Given the description of an element on the screen output the (x, y) to click on. 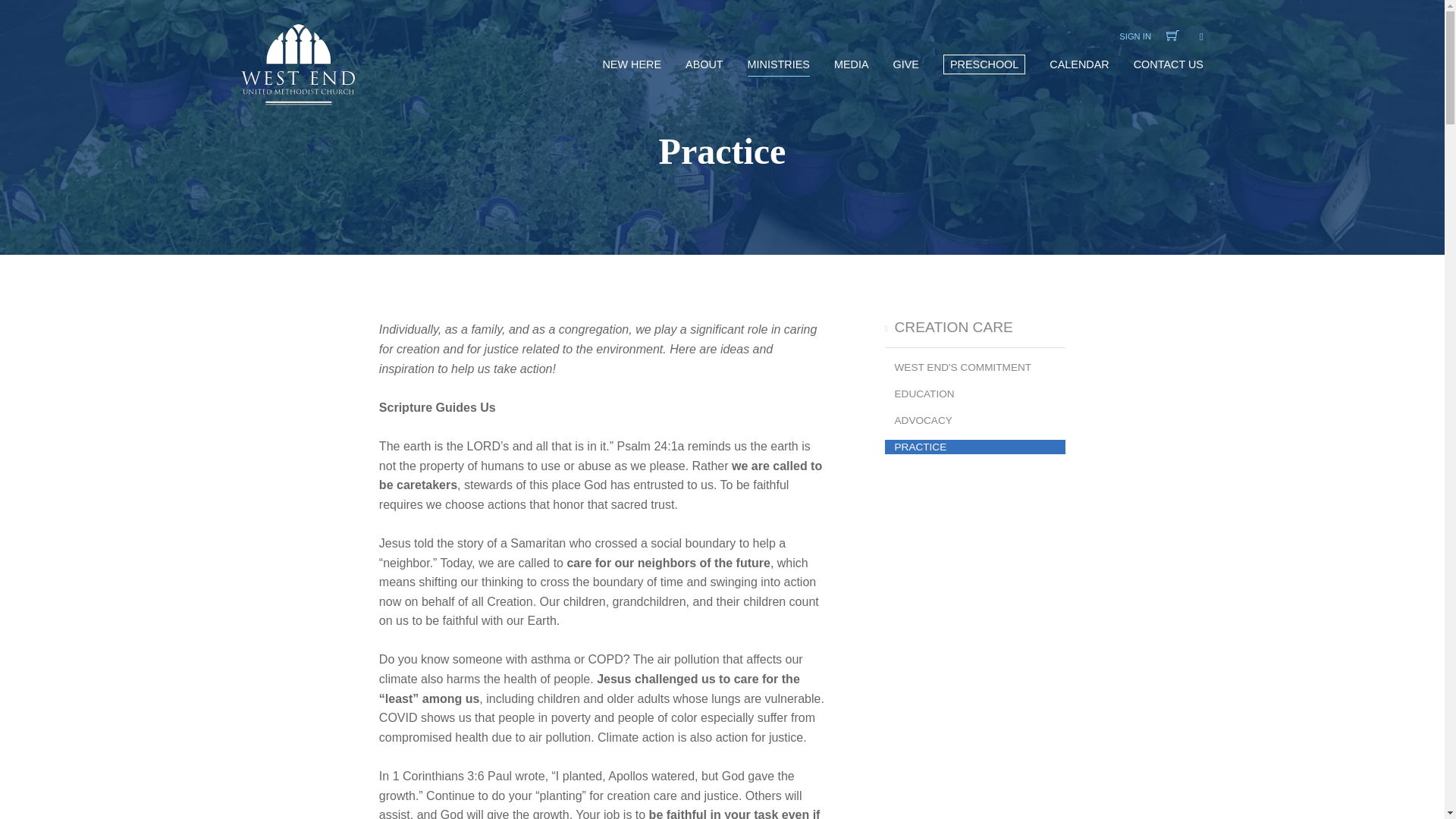
NEW HERE (631, 82)
Sign In (1135, 35)
MINISTRIES (778, 82)
SIGN IN (1135, 35)
